Given the description of an element on the screen output the (x, y) to click on. 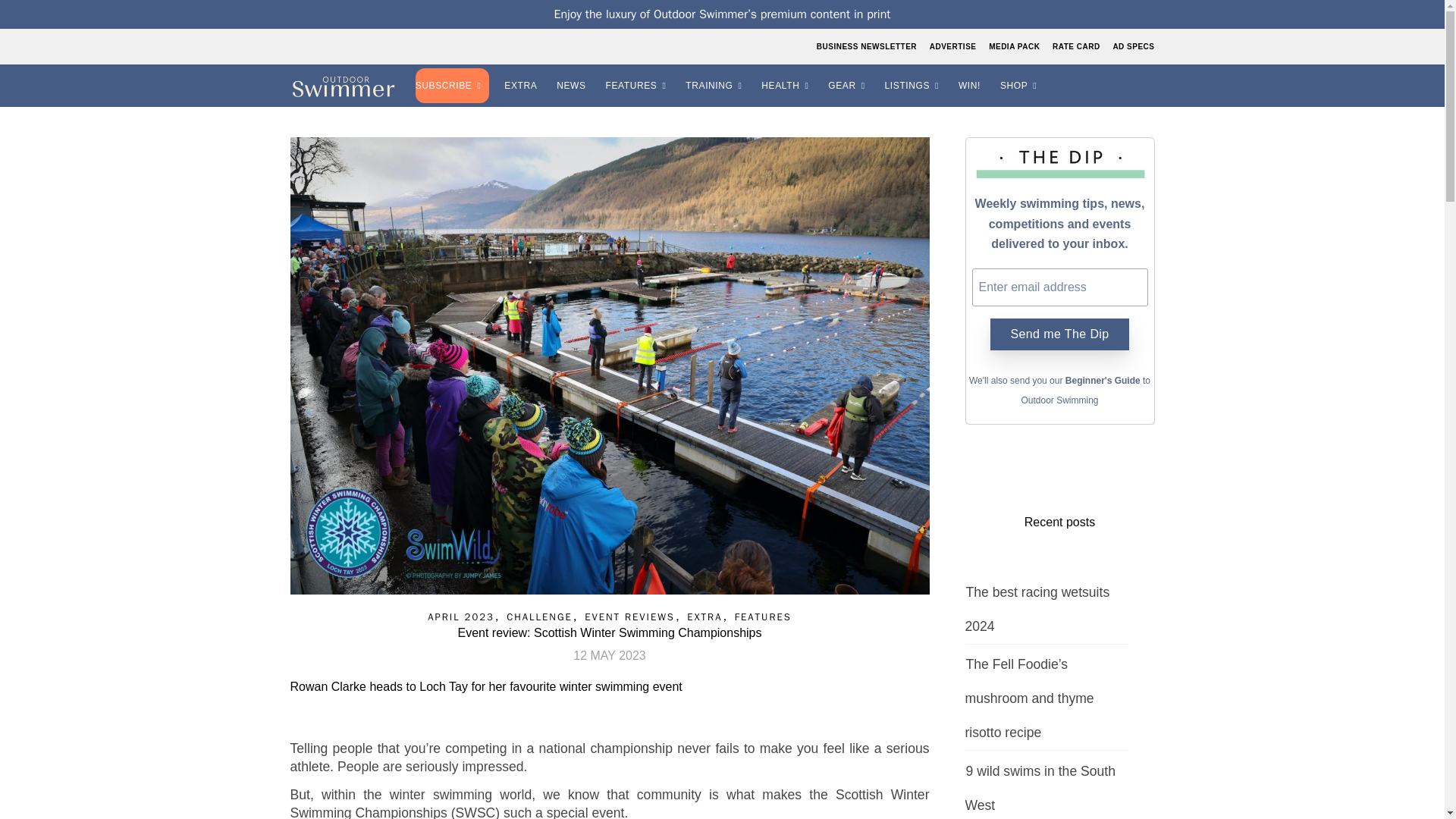
AD SPECS (1131, 46)
SUBSCRIBE (453, 85)
MEDIA PACK (1014, 46)
BUSINESS NEWSLETTER (868, 46)
Outdoor Swimmer Magazine (342, 85)
Enter email address (1060, 287)
RATE CARD (1075, 46)
FEATURES (638, 85)
TRAINING (716, 85)
Send me The Dip (1059, 334)
